Given the description of an element on the screen output the (x, y) to click on. 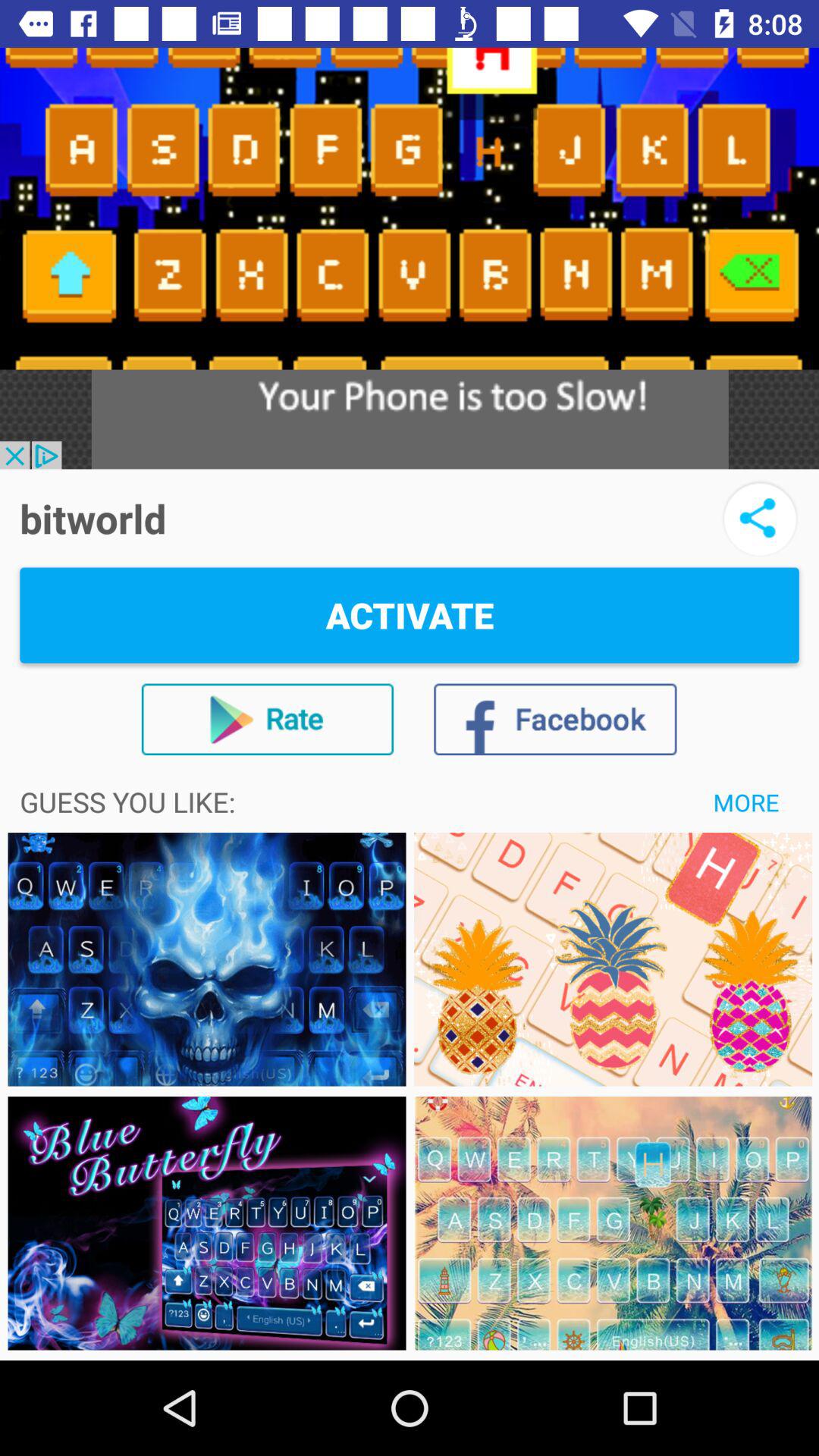
turn on the icon below activate icon (554, 719)
